Given the description of an element on the screen output the (x, y) to click on. 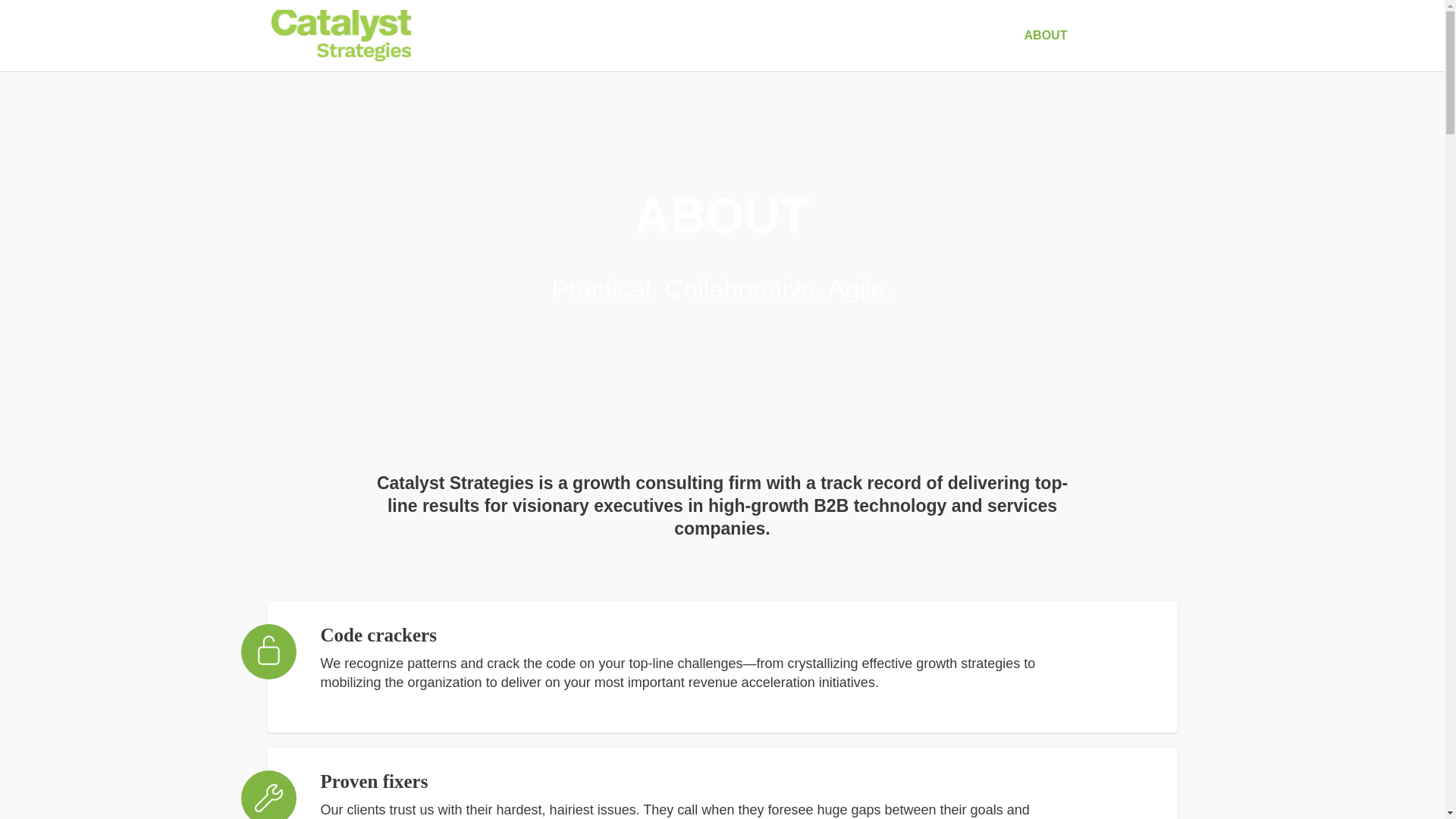
CLIENTS (946, 50)
ABOUT (1046, 50)
CONTACT (1147, 50)
SERVICES (838, 50)
